Given the description of an element on the screen output the (x, y) to click on. 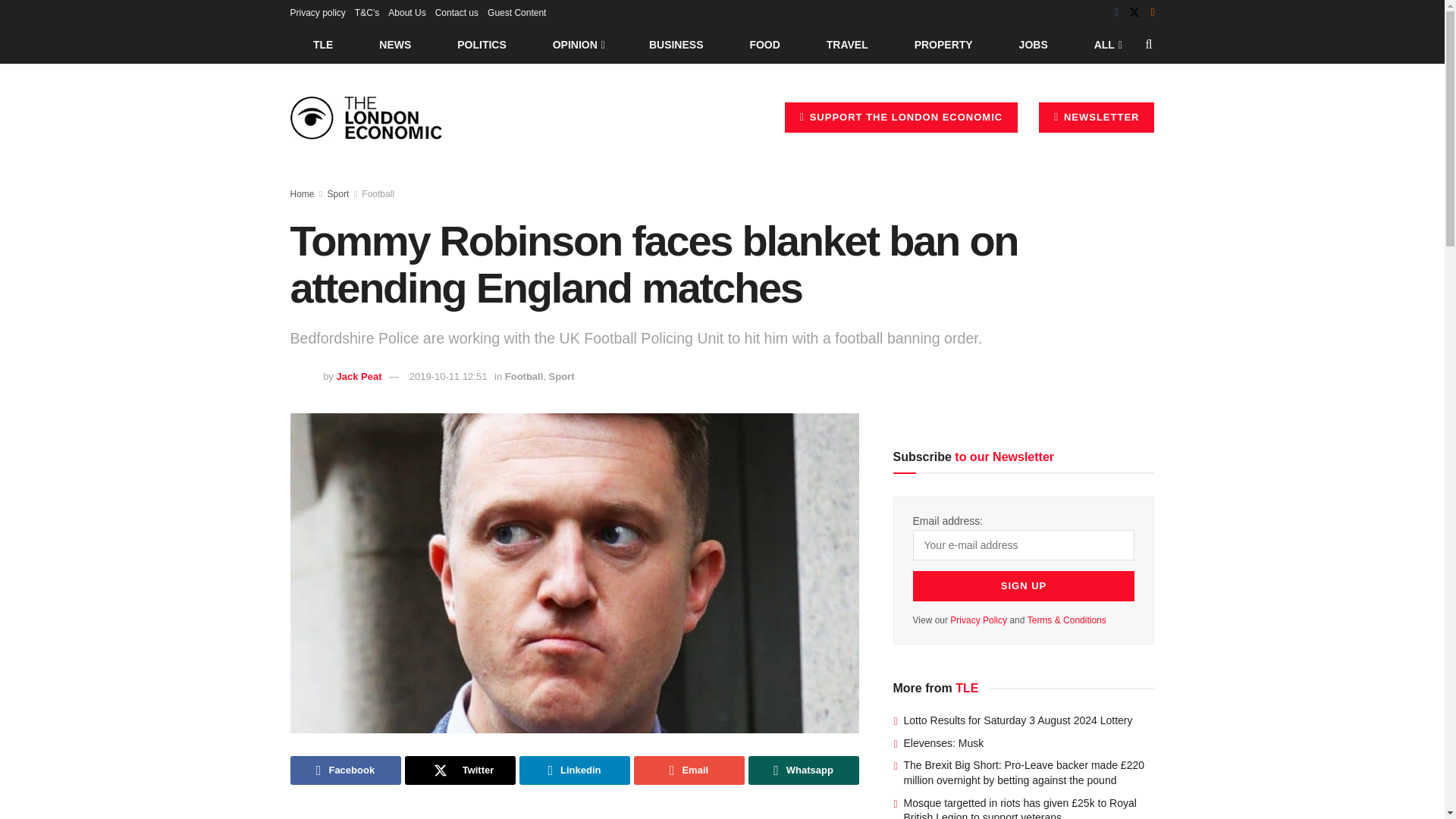
About Us (406, 12)
ALL (1106, 44)
Privacy policy (317, 12)
BUSINESS (676, 44)
TLE (322, 44)
Guest Content (516, 12)
Contact us (457, 12)
JOBS (1032, 44)
FOOD (764, 44)
Home (301, 194)
POLITICS (481, 44)
TRAVEL (847, 44)
Sign up (1023, 585)
NEWSLETTER (1096, 117)
OPINION (577, 44)
